Given the description of an element on the screen output the (x, y) to click on. 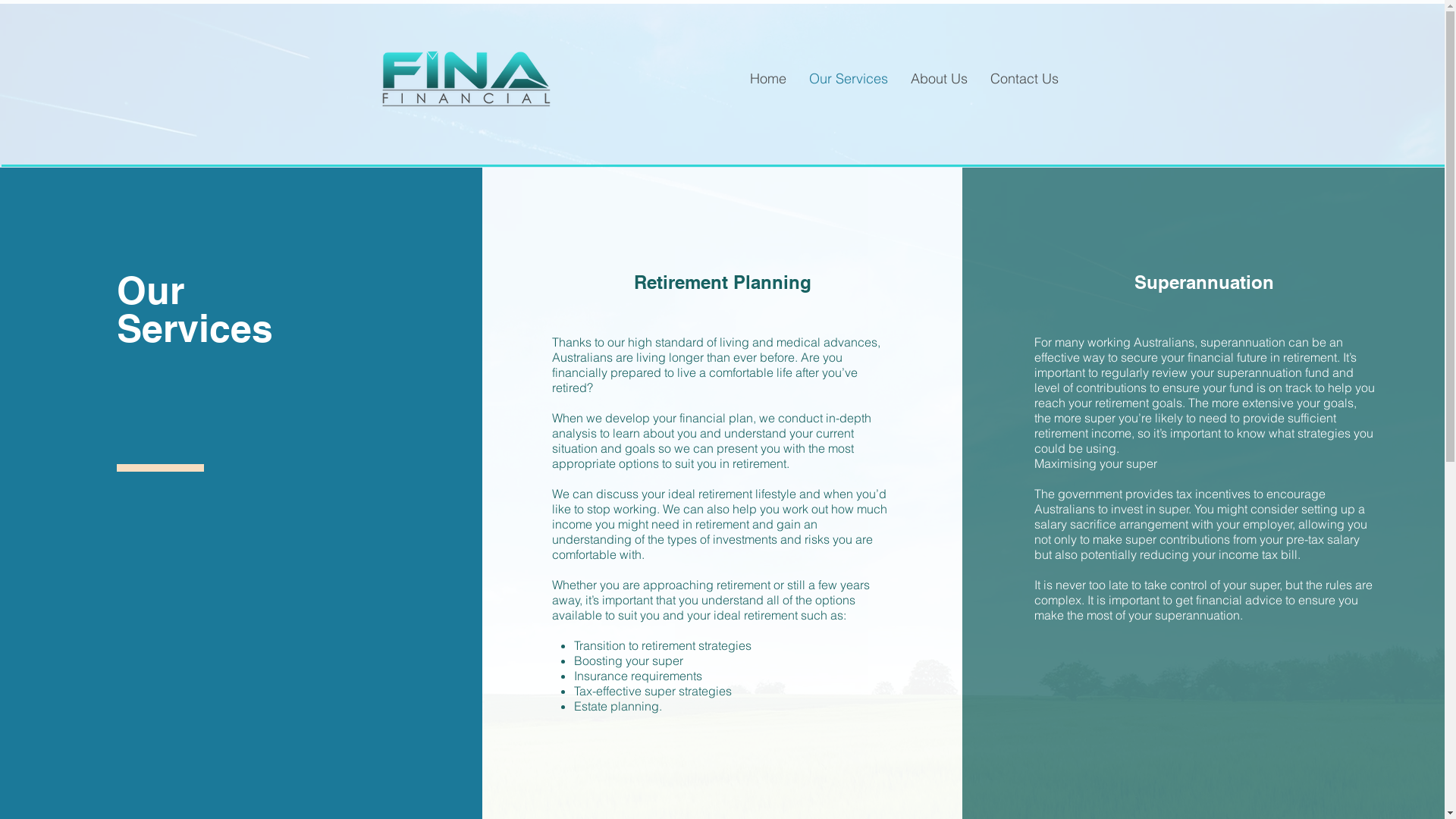
Our Services Element type: text (848, 78)
About Us Element type: text (939, 78)
Contact Us Element type: text (1023, 78)
Home Element type: text (767, 78)
